Given the description of an element on the screen output the (x, y) to click on. 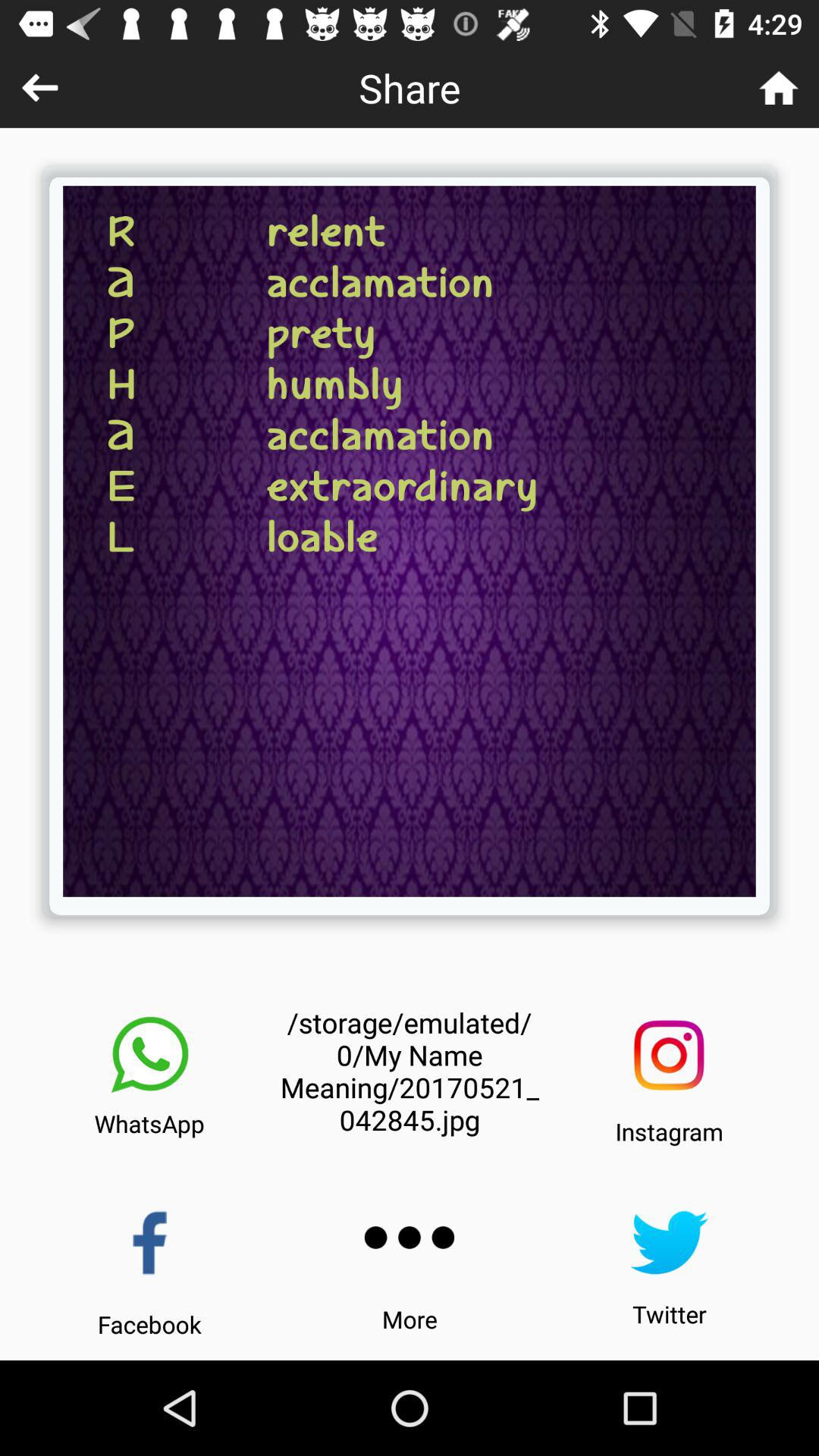
go to previous screen (39, 87)
